Given the description of an element on the screen output the (x, y) to click on. 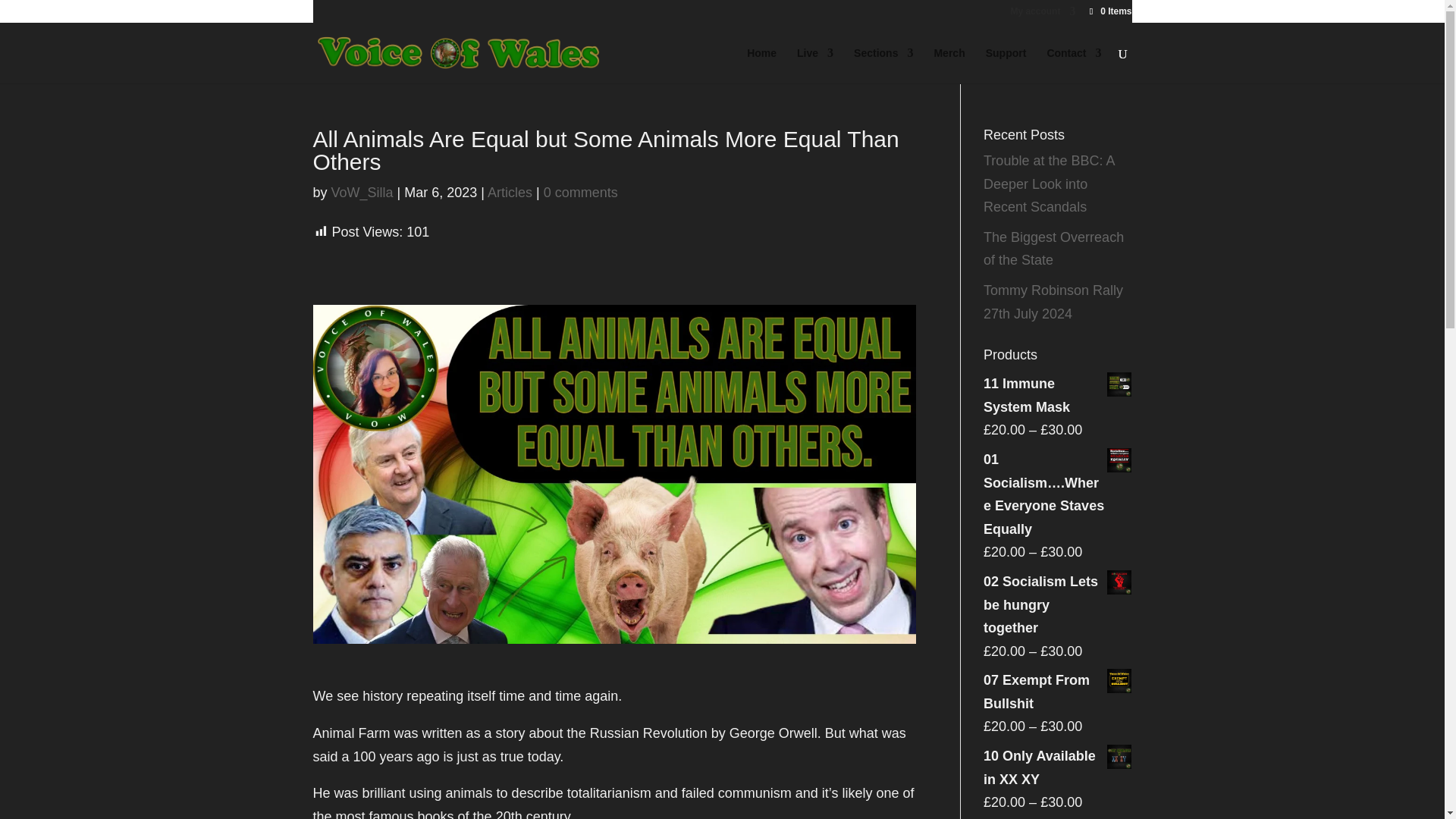
Contact (1073, 65)
Sections (882, 65)
Live (814, 65)
My account (1042, 14)
Tommy Robinson Rally 27th July 2024 (1053, 301)
Support (1005, 65)
The Biggest Overreach of the State (1054, 249)
0 comments (580, 192)
0 Items (1108, 10)
02 Socialism Lets be hungry together (1057, 604)
Trouble at the BBC: A Deeper Look into Recent Scandals (1048, 183)
Articles (509, 192)
11 Immune System Mask (1057, 395)
